Given the description of an element on the screen output the (x, y) to click on. 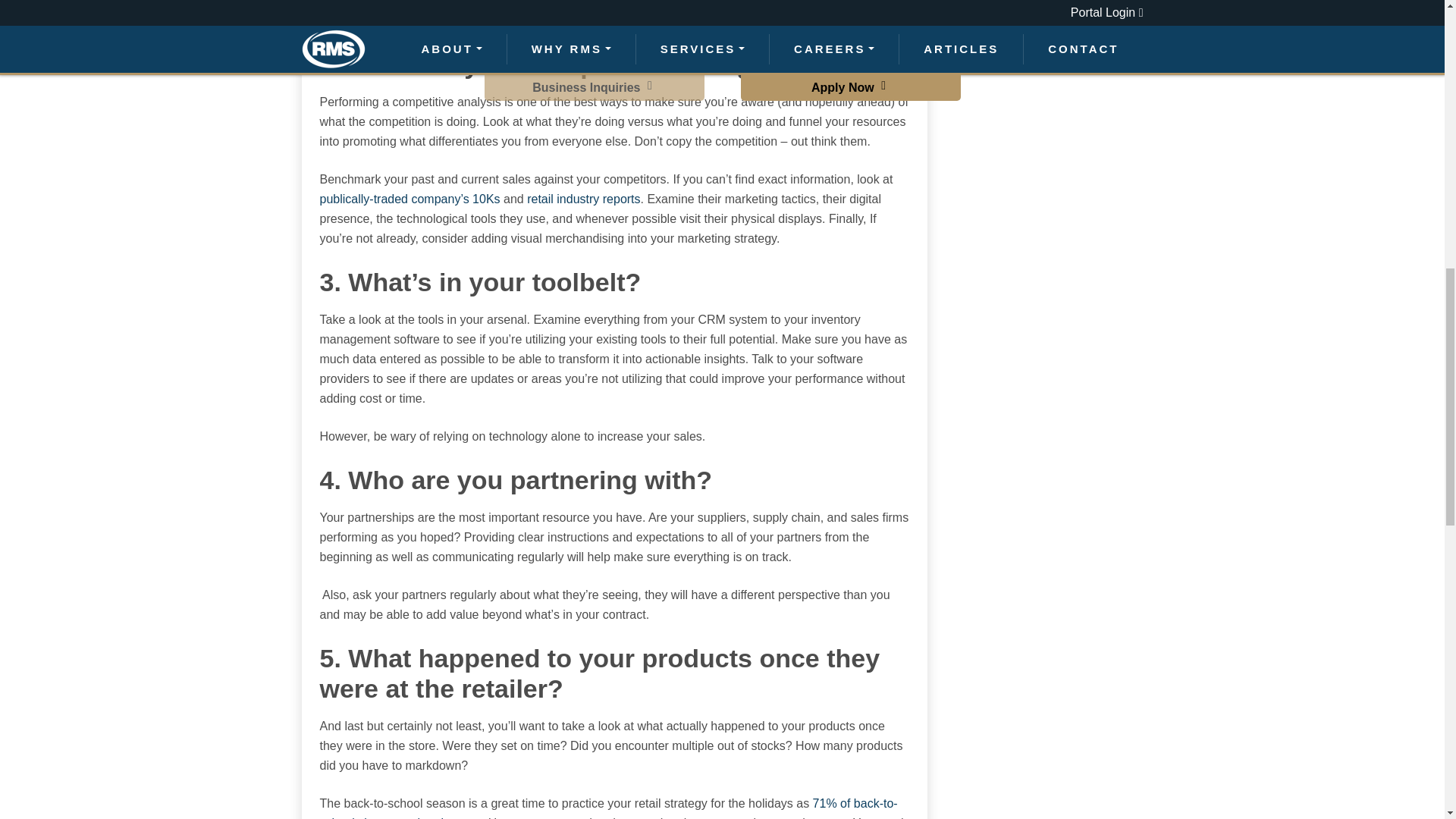
retail industry reports (583, 198)
